Given the description of an element on the screen output the (x, y) to click on. 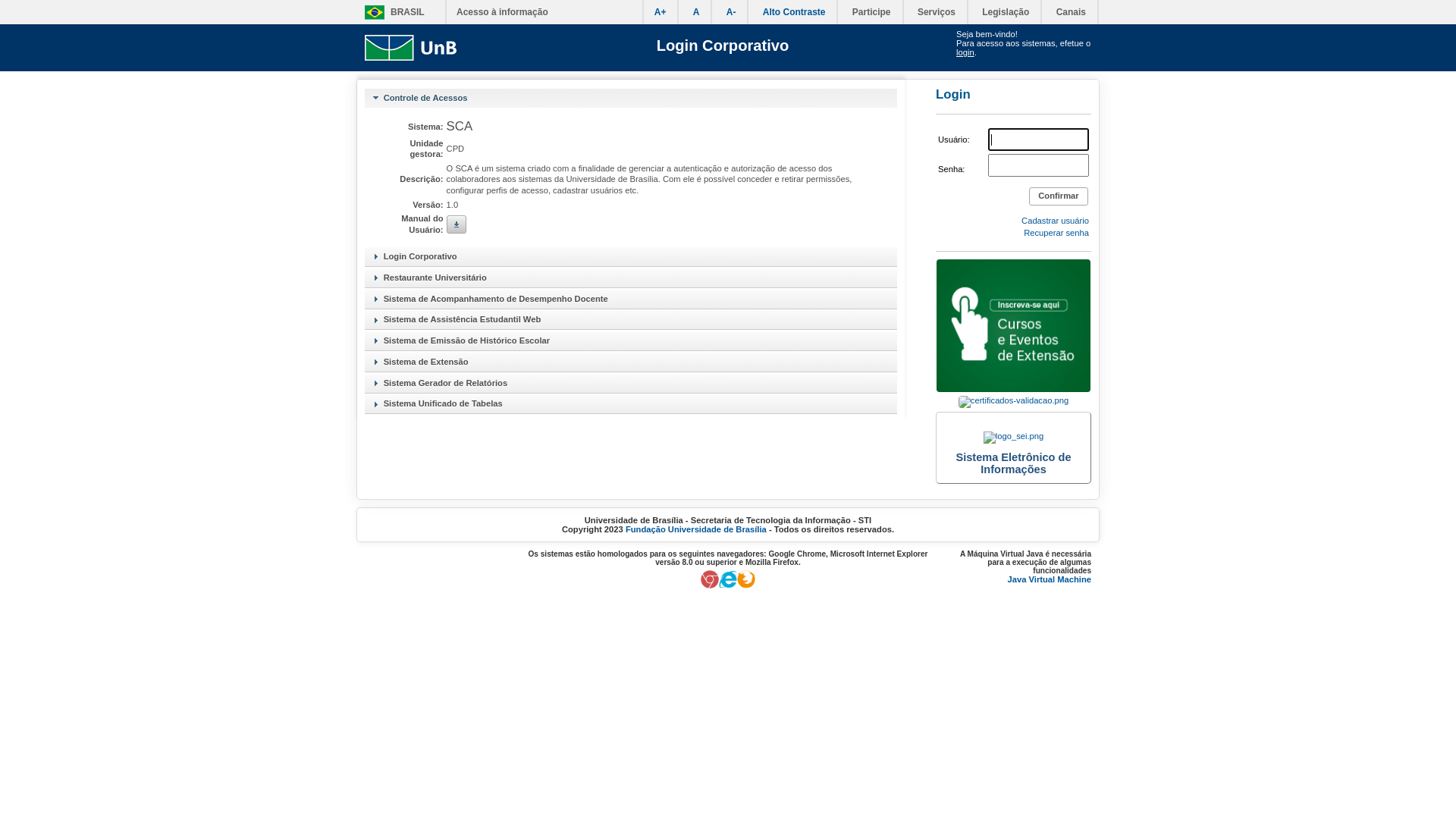
Login Corporativo Element type: text (722, 45)
Confirmar Element type: text (1058, 196)
Google Chrome Element type: hover (709, 584)
login Element type: text (965, 51)
A+ Element type: text (660, 11)
ui-button Element type: text (456, 224)
BRASIL Element type: text (390, 12)
Recuperar senha Element type: text (1055, 238)
A- Element type: text (731, 11)
Login Corporativo Element type: text (630, 256)
Alto Contraste Element type: text (793, 11)
Controle de Acessos Element type: text (630, 97)
Microsoft Internet Explorer Element type: hover (727, 584)
Mozilla Firefox Element type: hover (746, 584)
Java Virtual Machine Element type: text (1049, 578)
A Element type: text (696, 11)
Participe Element type: text (871, 11)
Sistema Unificado de Tabelas Element type: text (630, 404)
Canais Element type: text (1070, 11)
Sistema de Acompanhamento de Desempenho Docente Element type: text (630, 298)
